Given the description of an element on the screen output the (x, y) to click on. 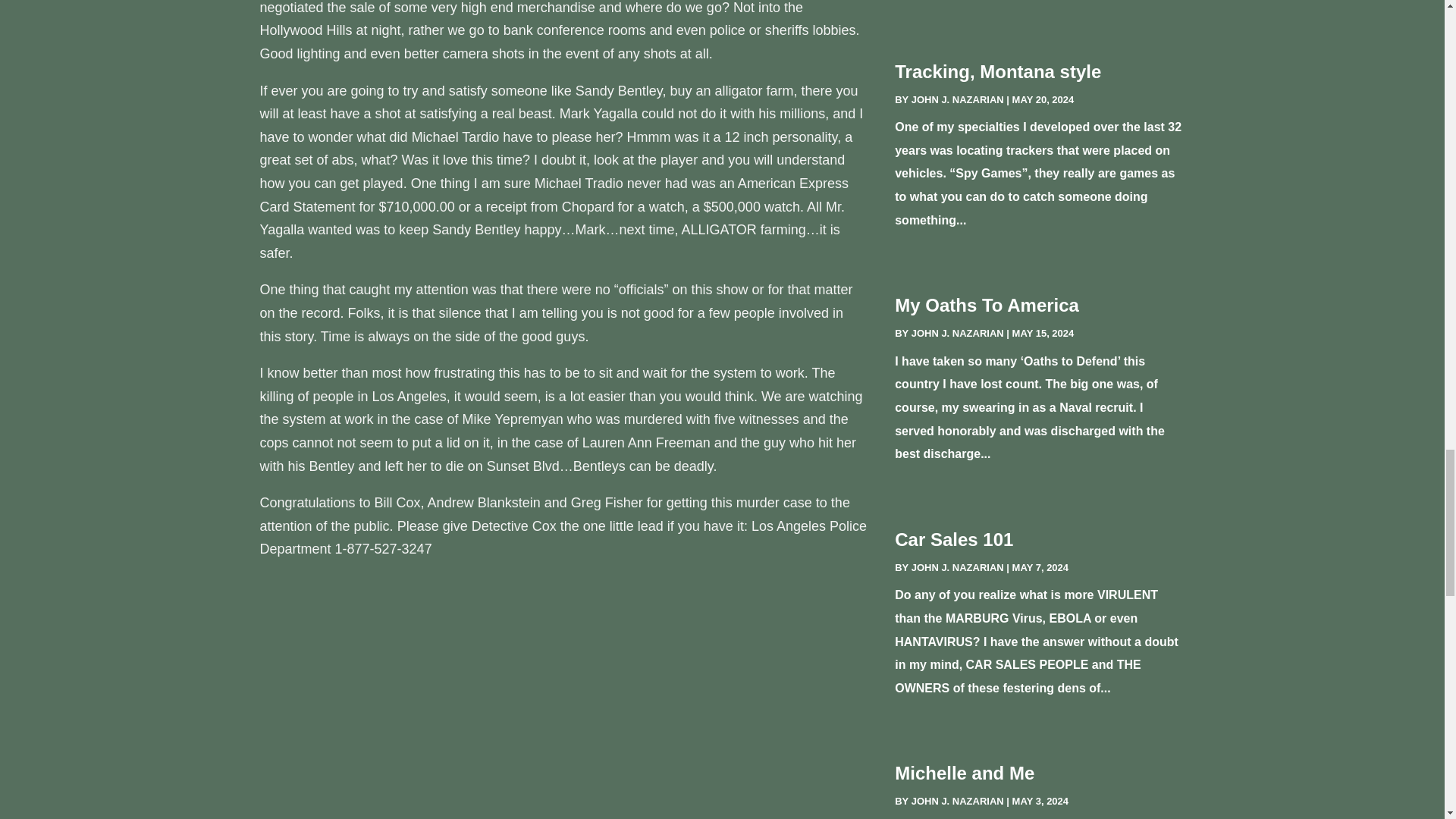
Posts by John J. Nazarian (957, 99)
JOHN J. NAZARIAN (957, 333)
My Oaths To America (986, 304)
Posts by John J. Nazarian (957, 800)
Tracking, Montana style (997, 71)
JOHN J. NAZARIAN (957, 800)
JOHN J. NAZARIAN (957, 99)
Car Sales 101 (954, 539)
JOHN J. NAZARIAN (957, 567)
Posts by John J. Nazarian (957, 333)
Michelle and Me (964, 772)
Posts by John J. Nazarian (957, 567)
